Given the description of an element on the screen output the (x, y) to click on. 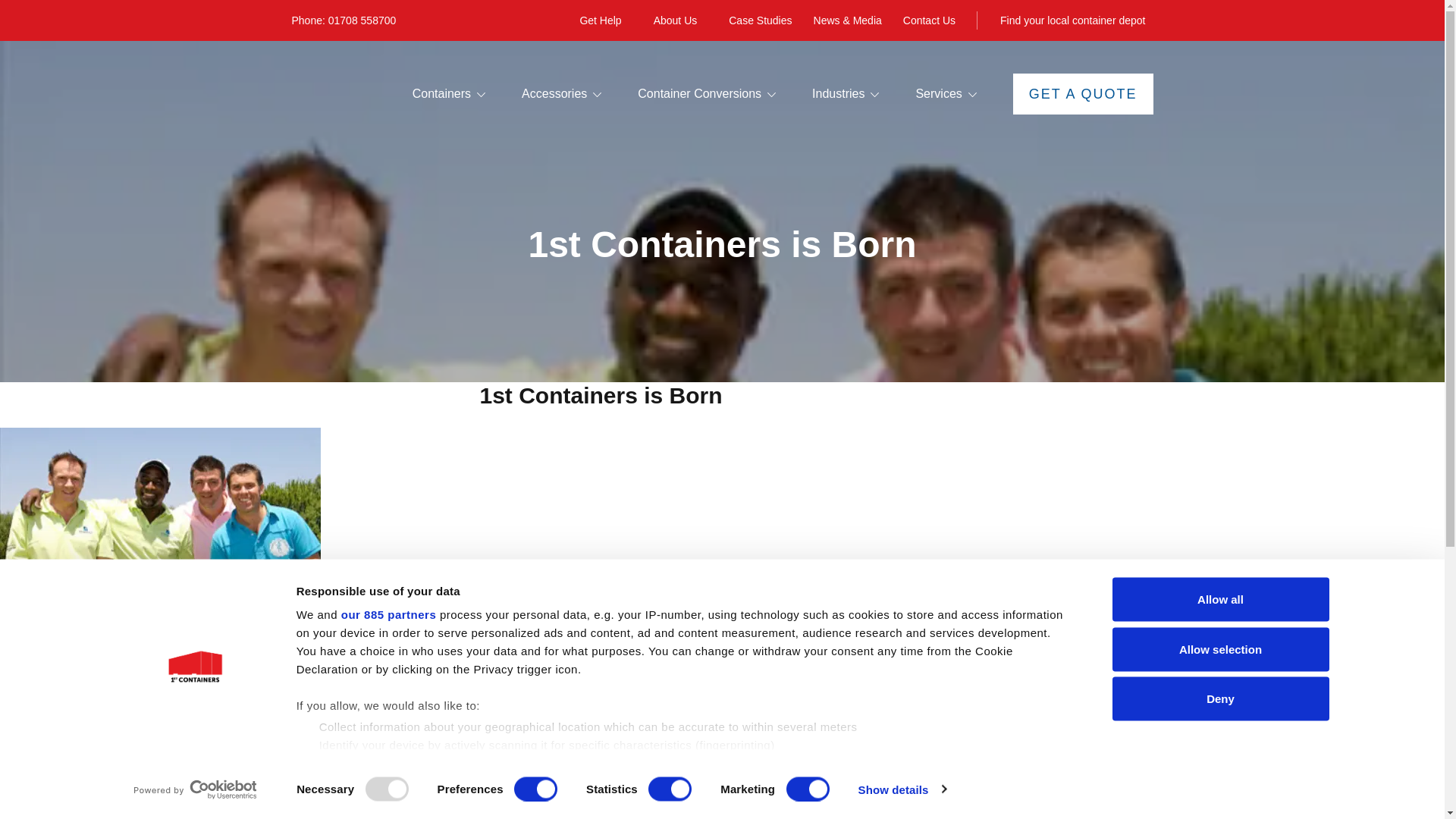
Show details (900, 789)
details section (825, 765)
our 885 partners (388, 614)
